Given the description of an element on the screen output the (x, y) to click on. 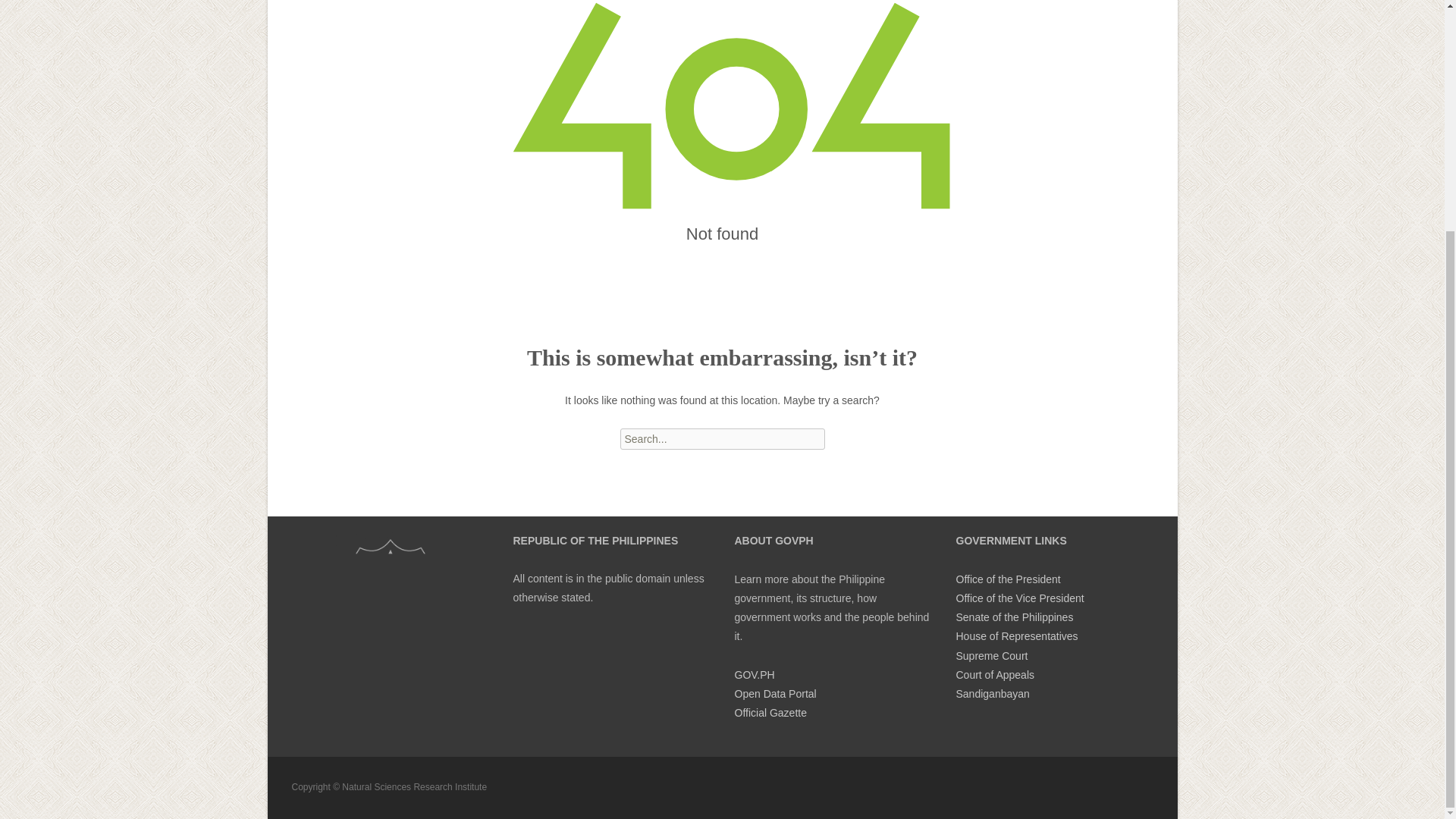
Sandiganbayan (992, 693)
Supreme Court (991, 655)
Open Data Portal (774, 693)
GOV.PH (753, 674)
Office of the President (1007, 579)
Court of Appeals (994, 674)
House of Representatives (1016, 635)
Search for: (722, 438)
Senate of the Philippines (1014, 616)
Office of the Vice President (1019, 598)
Official Gazette (769, 712)
